Given the description of an element on the screen output the (x, y) to click on. 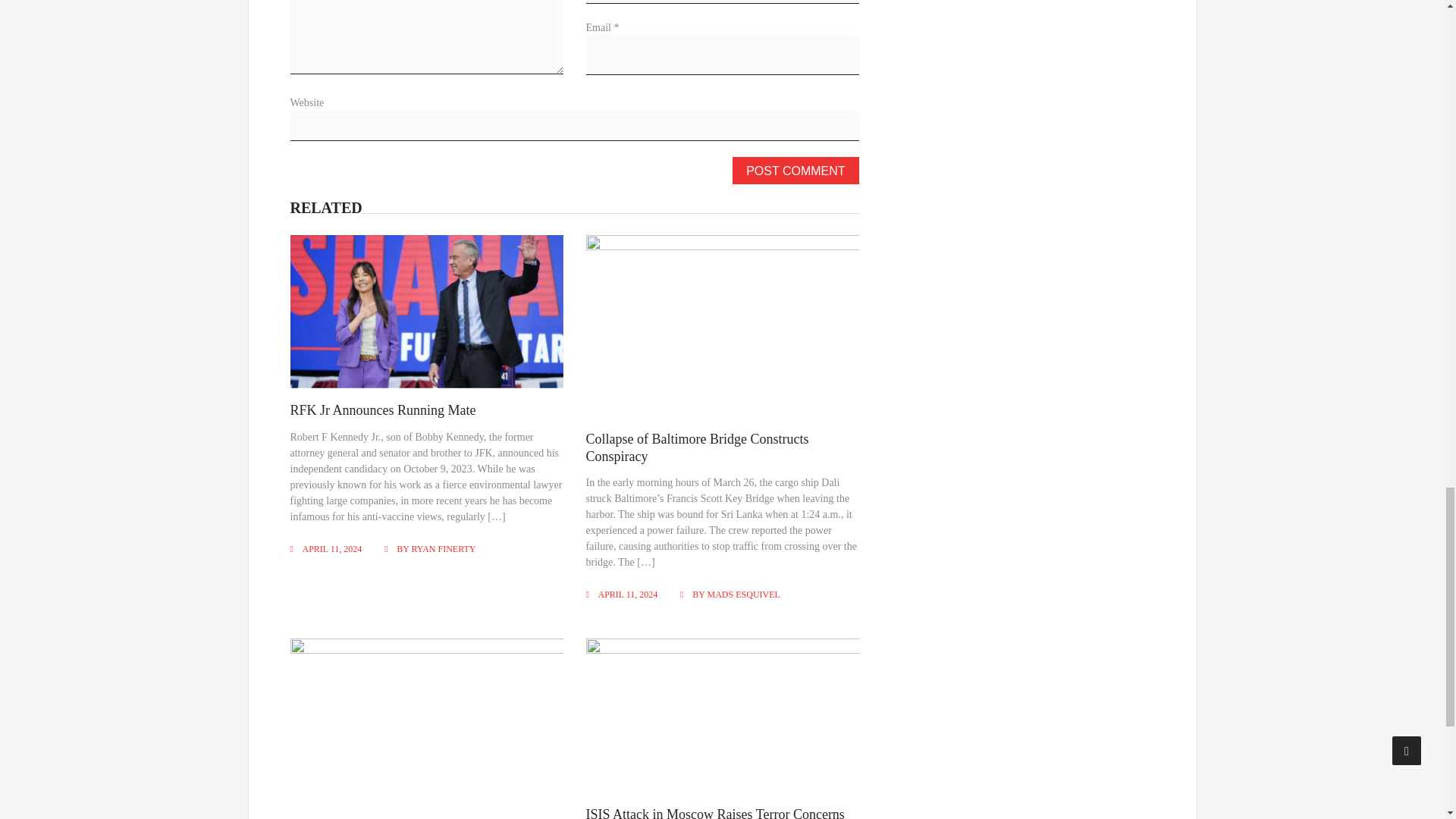
RFK Jr Announces Running Mate (382, 409)
Post Comment (795, 170)
APRIL 11, 2024 (331, 548)
Collapse of Baltimore Bridge Constructs Conspiracy (697, 447)
APRIL 11, 2024 (628, 593)
Post Comment (795, 170)
RYAN FINERTY (444, 548)
